Given the description of an element on the screen output the (x, y) to click on. 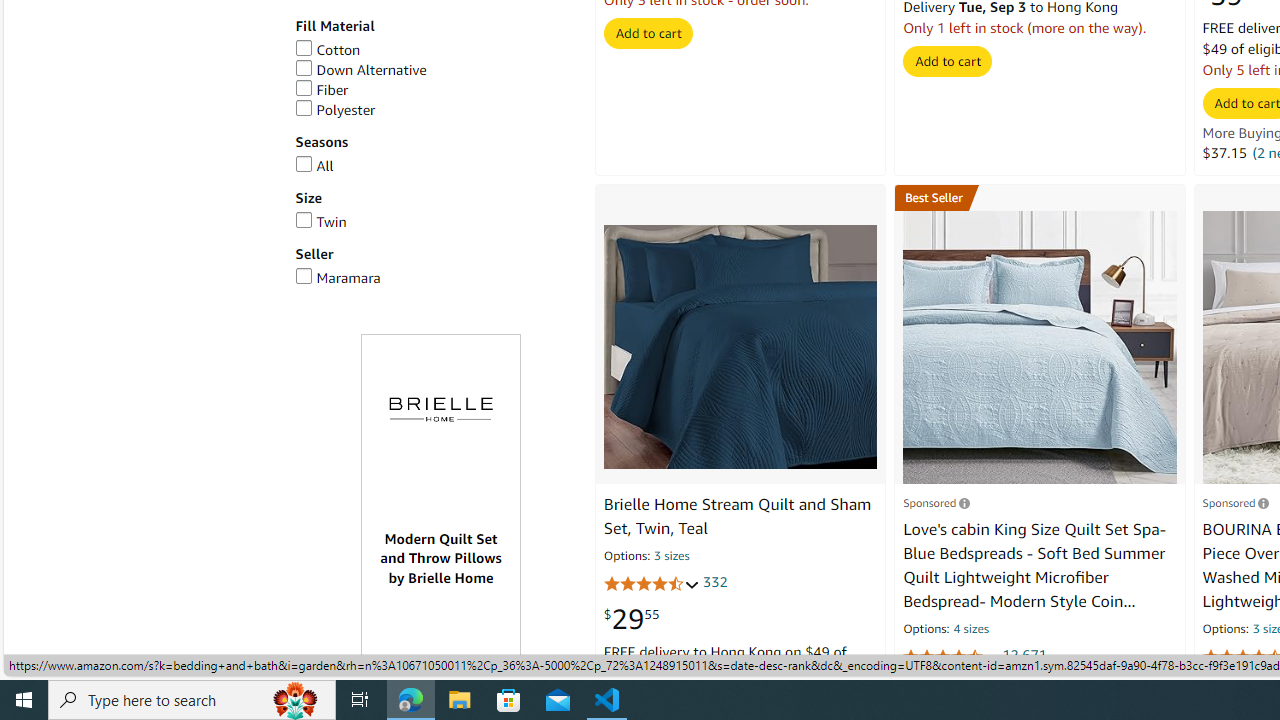
4.3 out of 5 stars (651, 583)
Skip to main search results (88, 666)
Maramara (434, 278)
Maramara (337, 277)
Brielle Home Stream Quilt and Sham Set, Twin, Teal (740, 347)
Down Alternative (434, 70)
$41.99 (1230, 691)
$29.55 (631, 619)
All (434, 165)
Twin (434, 222)
Cotton (327, 49)
Cotton (434, 50)
Down Alternative (360, 69)
3 sizes (671, 557)
